Given the description of an element on the screen output the (x, y) to click on. 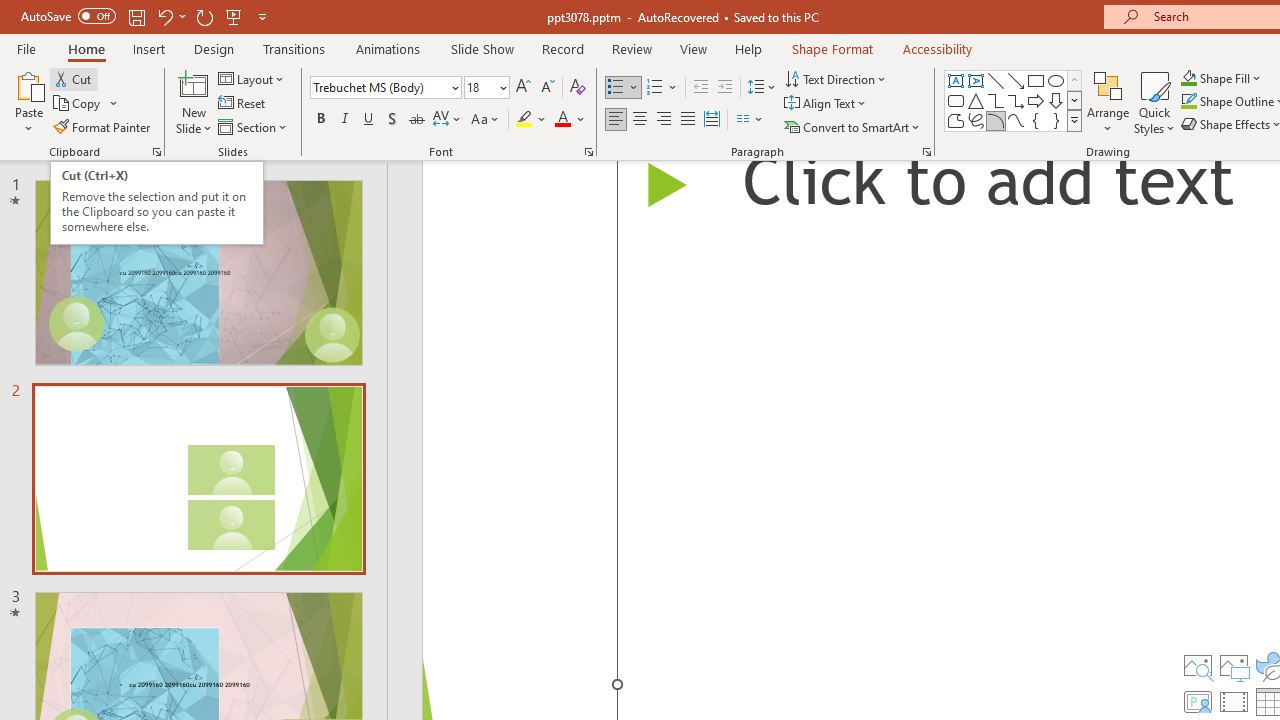
Insert Cameo (1197, 701)
Stock Images (1197, 665)
